Given the description of an element on the screen output the (x, y) to click on. 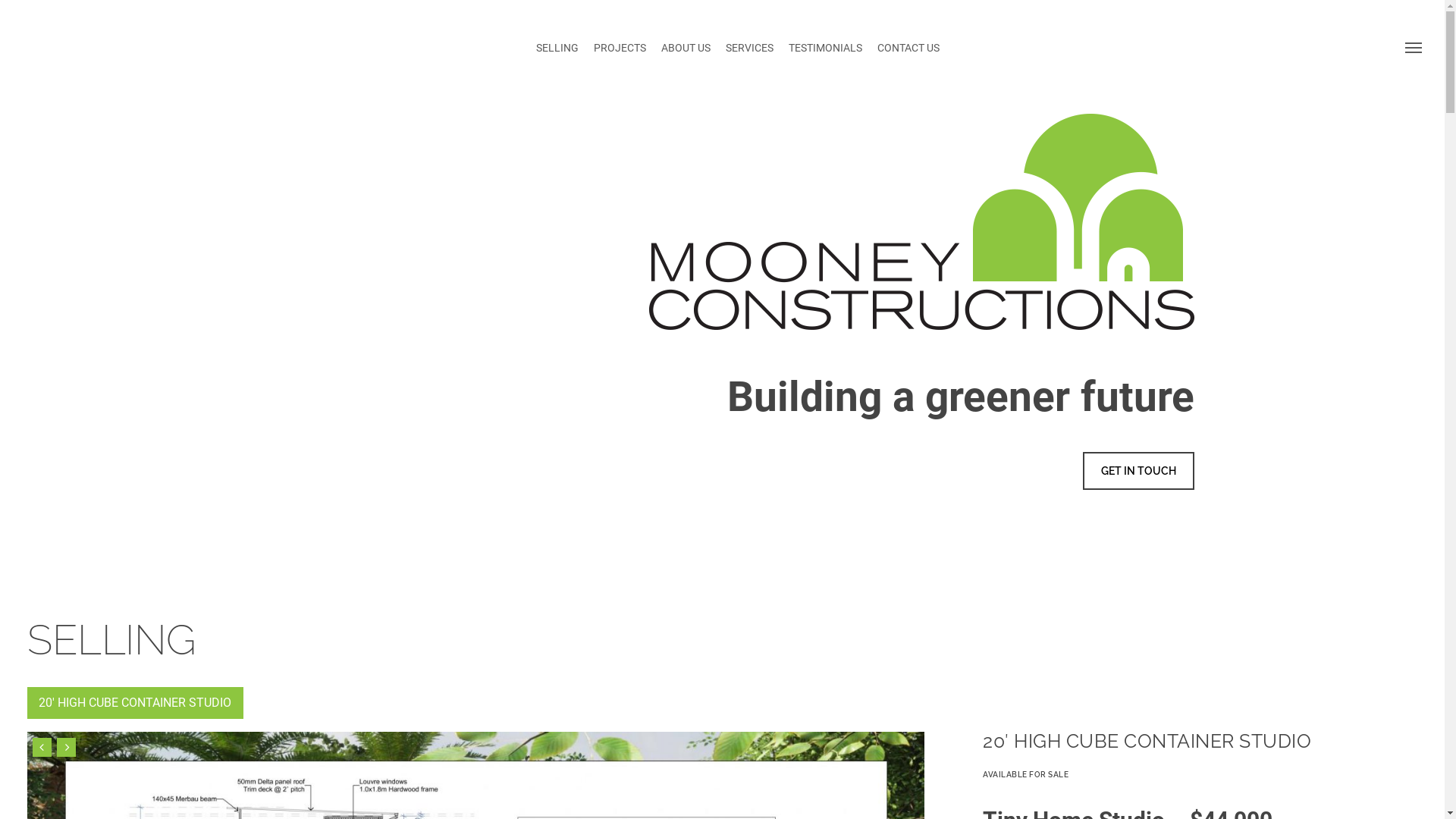
Mooney Constructions Pty Ltd Element type: text (117, 46)
SERVICES Element type: text (749, 46)
Menu Element type: text (1413, 47)
GET IN TOUCH Element type: text (1138, 470)
SELLING Element type: text (557, 46)
ABOUT US Element type: text (685, 46)
20' HIGH CUBE CONTAINER STUDIO Element type: text (135, 702)
CONTACT US Element type: text (908, 46)
PROJECTS Element type: text (619, 46)
TESTIMONIALS Element type: text (825, 46)
